Given the description of an element on the screen output the (x, y) to click on. 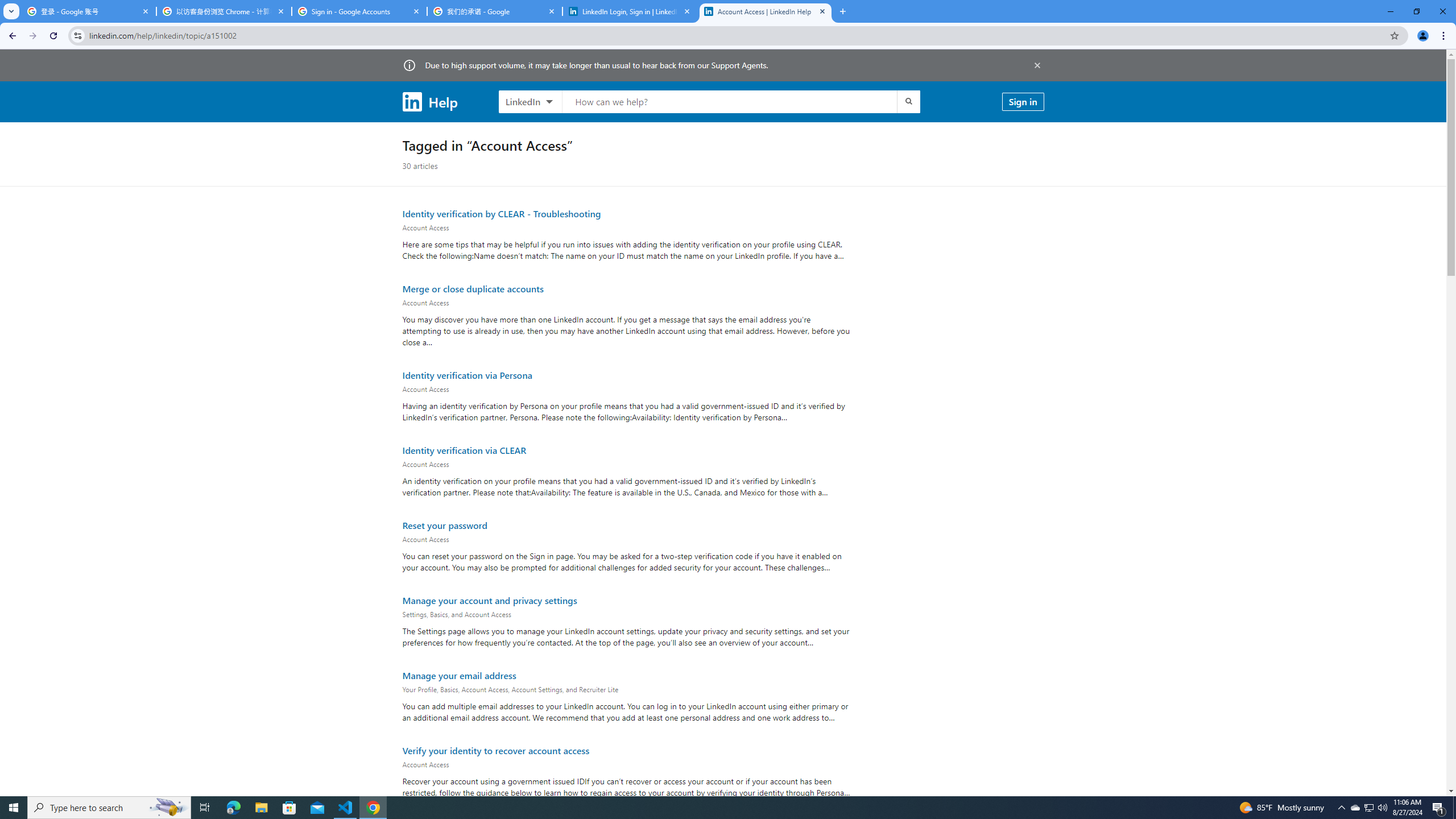
Verify your identity to recover account access (495, 749)
Manage your email address (458, 675)
Identity verification via Persona (466, 374)
Account Access | LinkedIn Help (765, 11)
Help (429, 101)
Sign in - Google Accounts (359, 11)
Manage your account and privacy settings (488, 599)
Reset your password (444, 524)
